Given the description of an element on the screen output the (x, y) to click on. 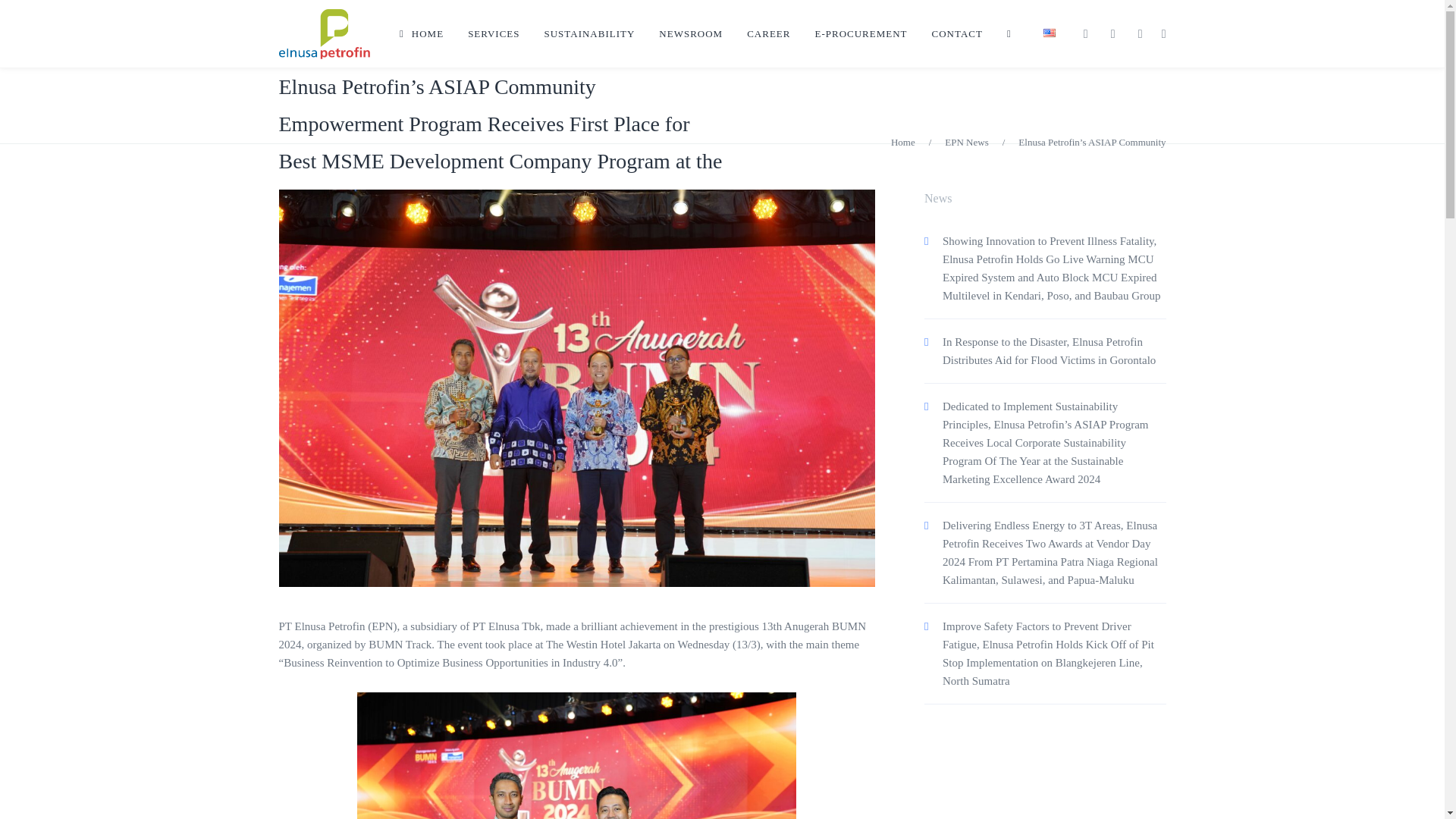
SERVICES (493, 33)
PT Elnusa Petrofin Official Website (324, 34)
SUSTAINABILITY (589, 33)
Home (903, 142)
E-PROCUREMENT (860, 33)
HOME (421, 33)
NEWSROOM (690, 33)
CONTACT (957, 33)
Elnusa Petrofin Home Page (421, 33)
CAREER (768, 33)
